Given the description of an element on the screen output the (x, y) to click on. 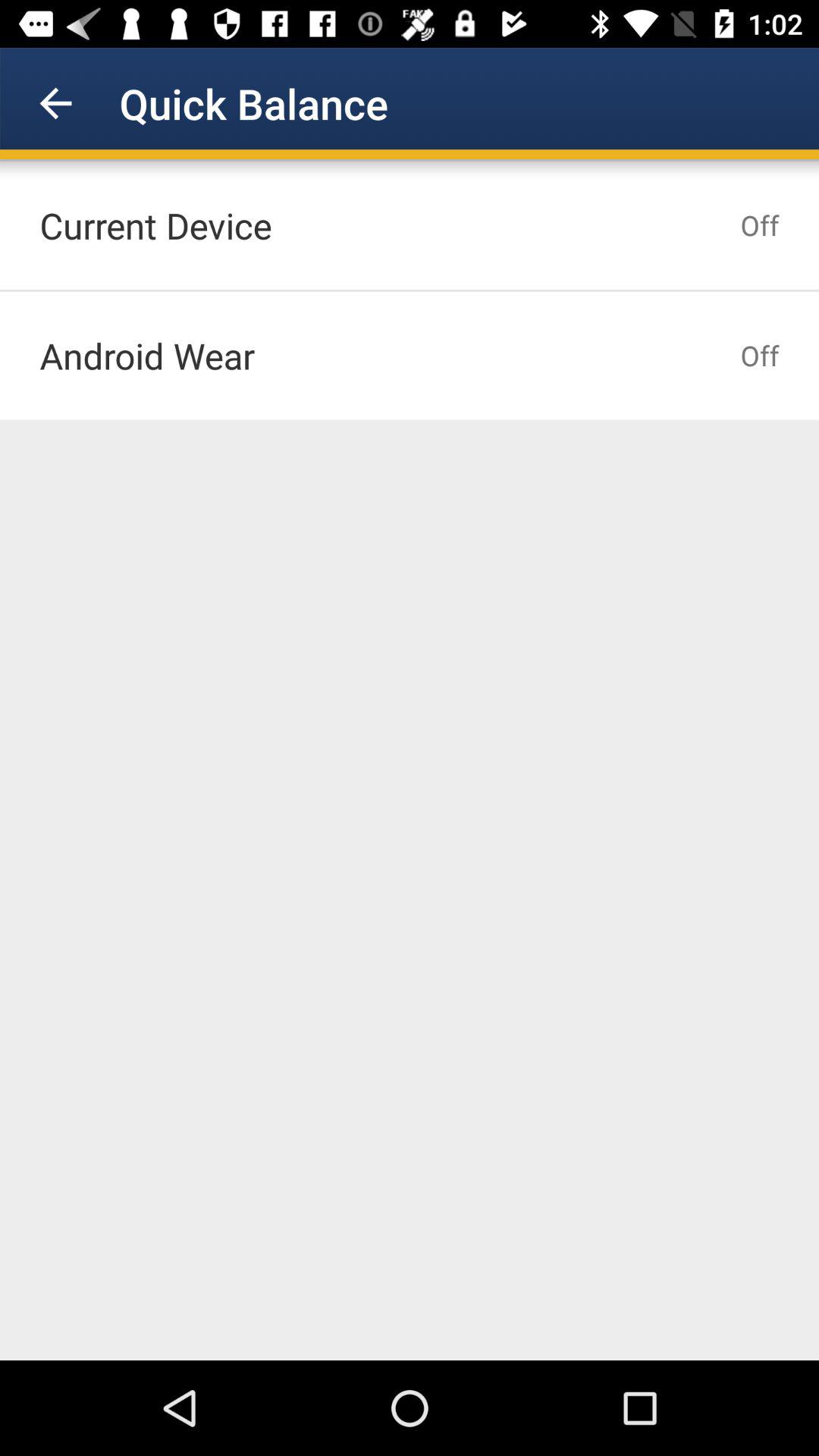
press icon next to quick balance item (55, 103)
